Given the description of an element on the screen output the (x, y) to click on. 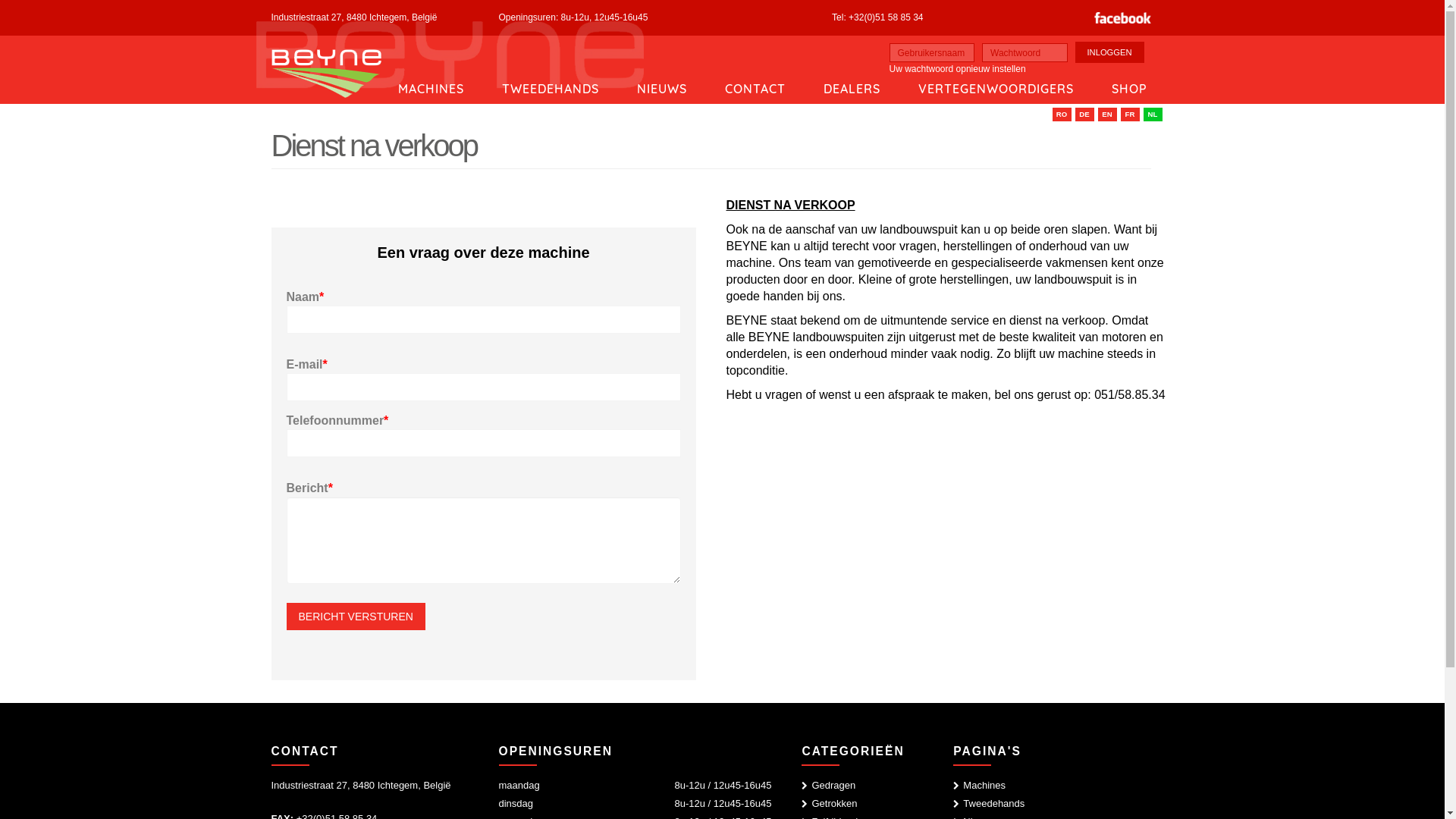
DEALERS Element type: text (850, 83)
Tweedehands Element type: text (988, 803)
Gedragen Element type: text (833, 784)
+32(0)51 58 85 34 Element type: text (885, 17)
Overslaan en naar de inhoud gaan Element type: text (0, 0)
RO Element type: text (1061, 114)
FR Element type: text (1129, 114)
DE Element type: text (1084, 114)
Preview Element type: text (36, 13)
Inloggen Element type: text (1109, 51)
NL Element type: text (1152, 114)
VERTEGENWOORDIGERS Element type: text (995, 83)
SHOP Element type: text (1128, 83)
NIEUWS Element type: text (661, 83)
Machines Element type: text (979, 784)
Home Element type: hover (326, 73)
CONTACT Element type: text (754, 83)
EN Element type: text (1107, 114)
Uw wachtwoord opnieuw instellen Element type: text (956, 68)
TWEEDEHANDS Element type: text (549, 83)
MACHINES Element type: text (431, 83)
Getrokken Element type: text (833, 803)
Bericht versturen Element type: text (355, 616)
